Given the description of an element on the screen output the (x, y) to click on. 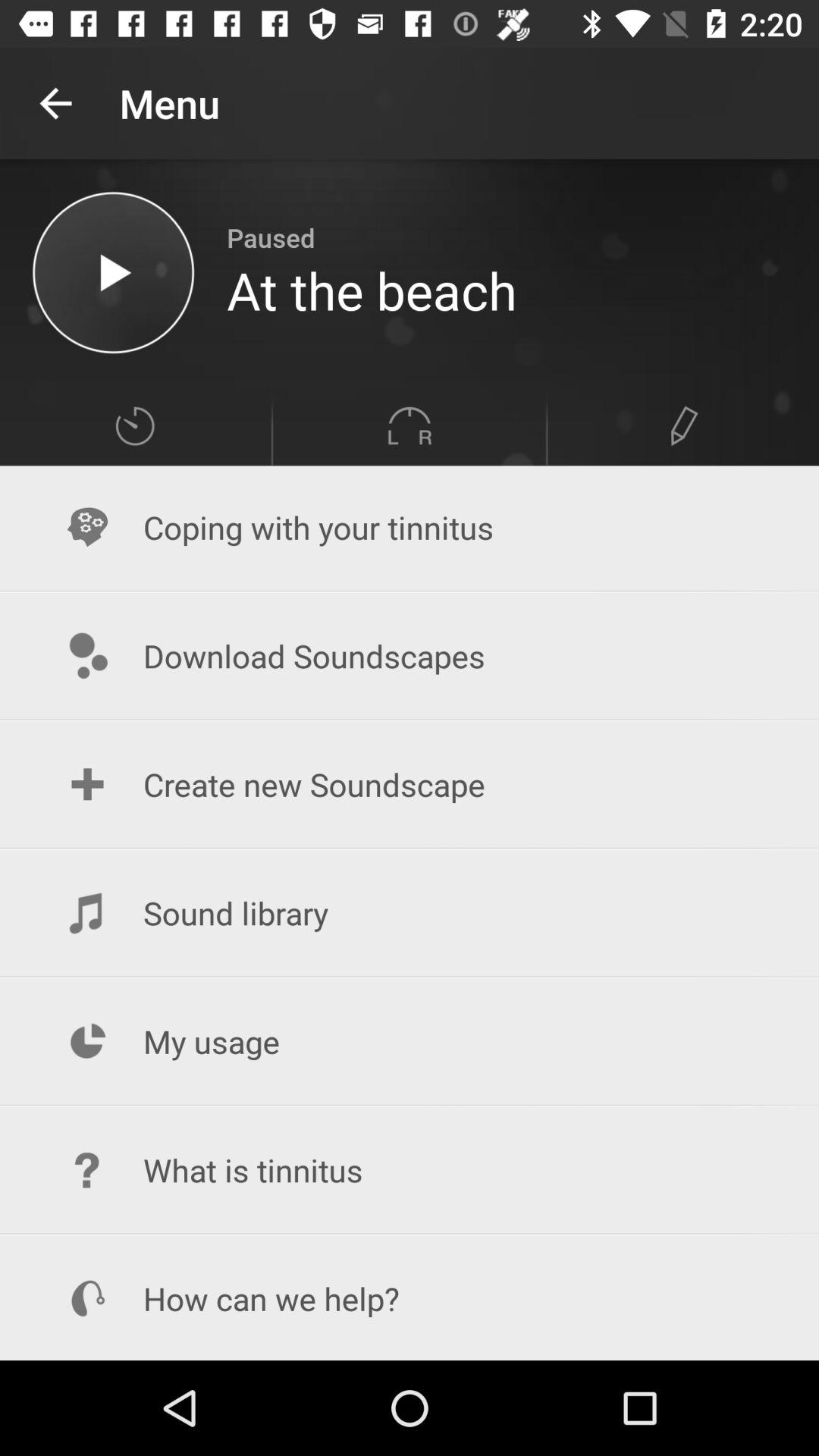
tap what is tinnitus icon (409, 1169)
